Given the description of an element on the screen output the (x, y) to click on. 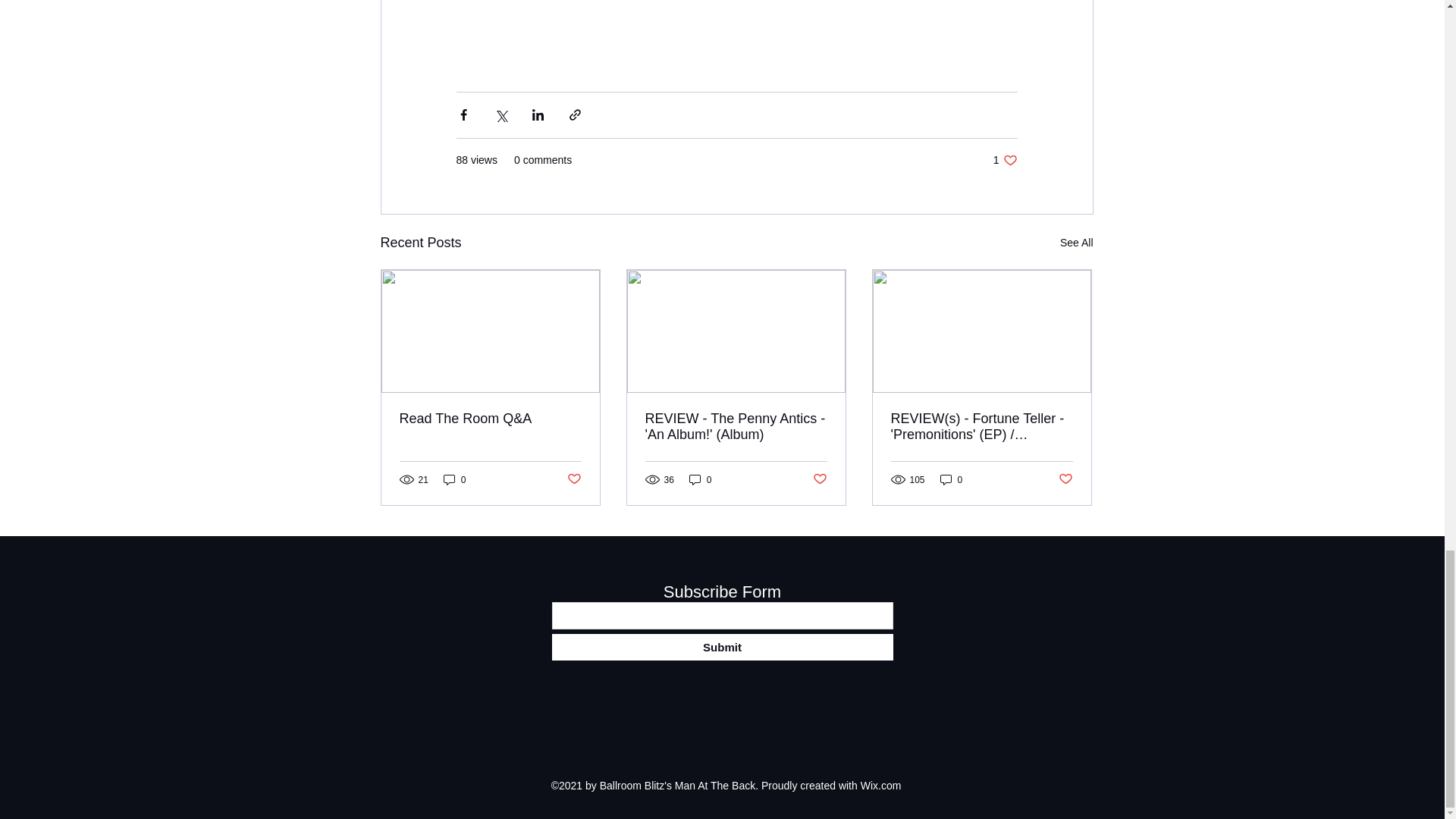
Post not marked as liked (1065, 479)
0 (700, 479)
0 (951, 479)
Post not marked as liked (819, 479)
0 (454, 479)
See All (1076, 242)
Submit (722, 646)
Post not marked as liked (573, 479)
